Given the description of an element on the screen output the (x, y) to click on. 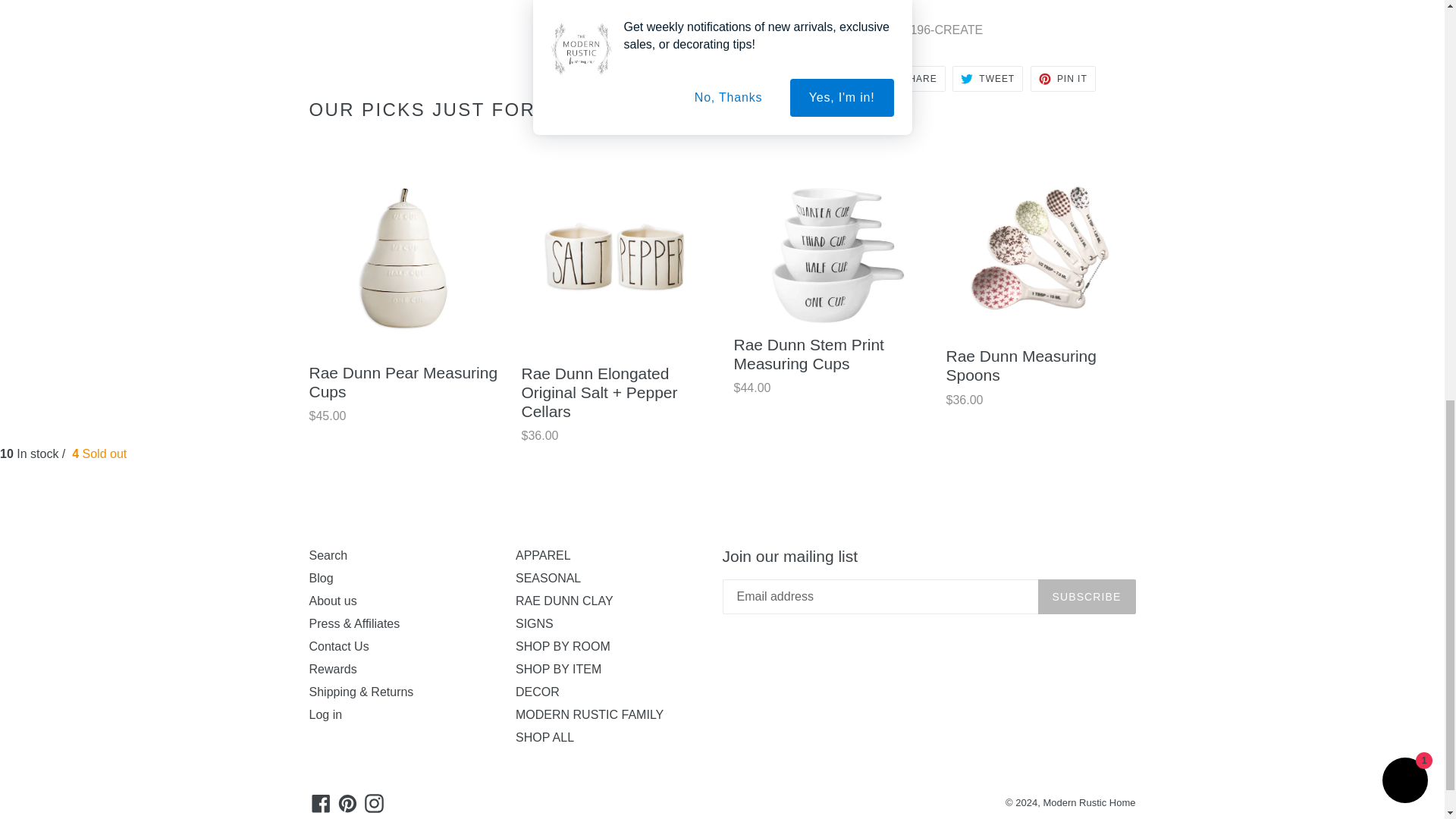
Tweet on Twitter (987, 78)
Modern Rustic Home on Pinterest (347, 802)
Share on Facebook (909, 78)
Pin on Pinterest (1063, 78)
Modern Rustic Home on Facebook (320, 802)
Modern Rustic Home on Instagram (373, 802)
